Given the description of an element on the screen output the (x, y) to click on. 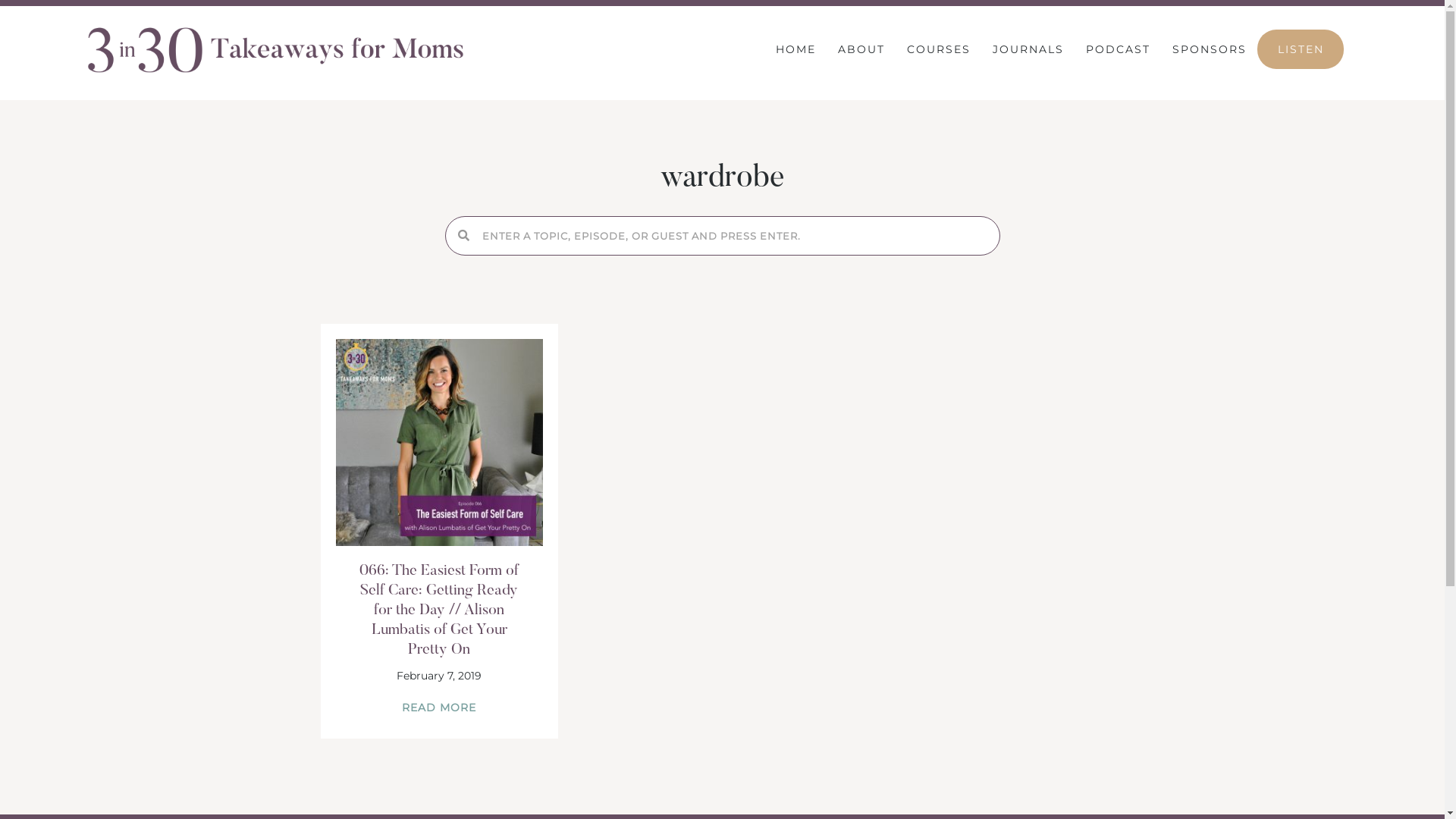
READ MORE Element type: text (438, 707)
HOME Element type: text (795, 49)
PODCAST Element type: text (1118, 49)
Search Element type: hover (733, 235)
ABOUT Element type: text (861, 49)
SPONSORS Element type: text (1209, 49)
JOURNALS Element type: text (1028, 49)
COURSES Element type: text (938, 49)
LISTEN Element type: text (1300, 49)
